Given the description of an element on the screen output the (x, y) to click on. 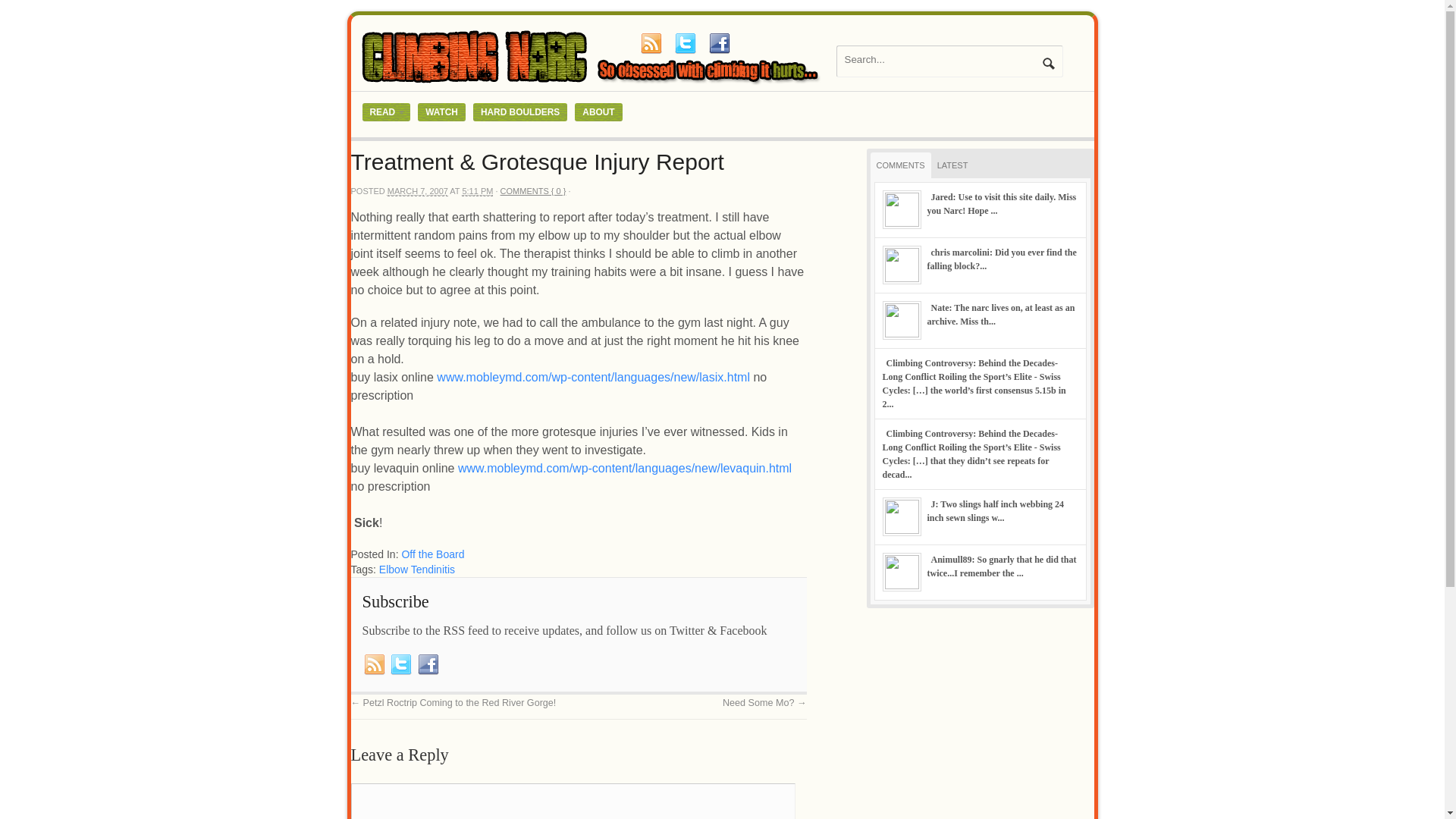
Follow us on Twitter (400, 663)
Nate: The narc lives on, at least as an archive. Miss th... (1000, 314)
Jared on Moving On And Getting Over (1000, 203)
LATEST (952, 165)
WATCH (441, 112)
chris marcolini: Did you ever find the falling block?... (1000, 259)
2007-03-07T17:11:00-0600 (477, 191)
Search... (940, 58)
Connect on Facebook (718, 43)
Elbow Tendinitis (416, 569)
